Given the description of an element on the screen output the (x, y) to click on. 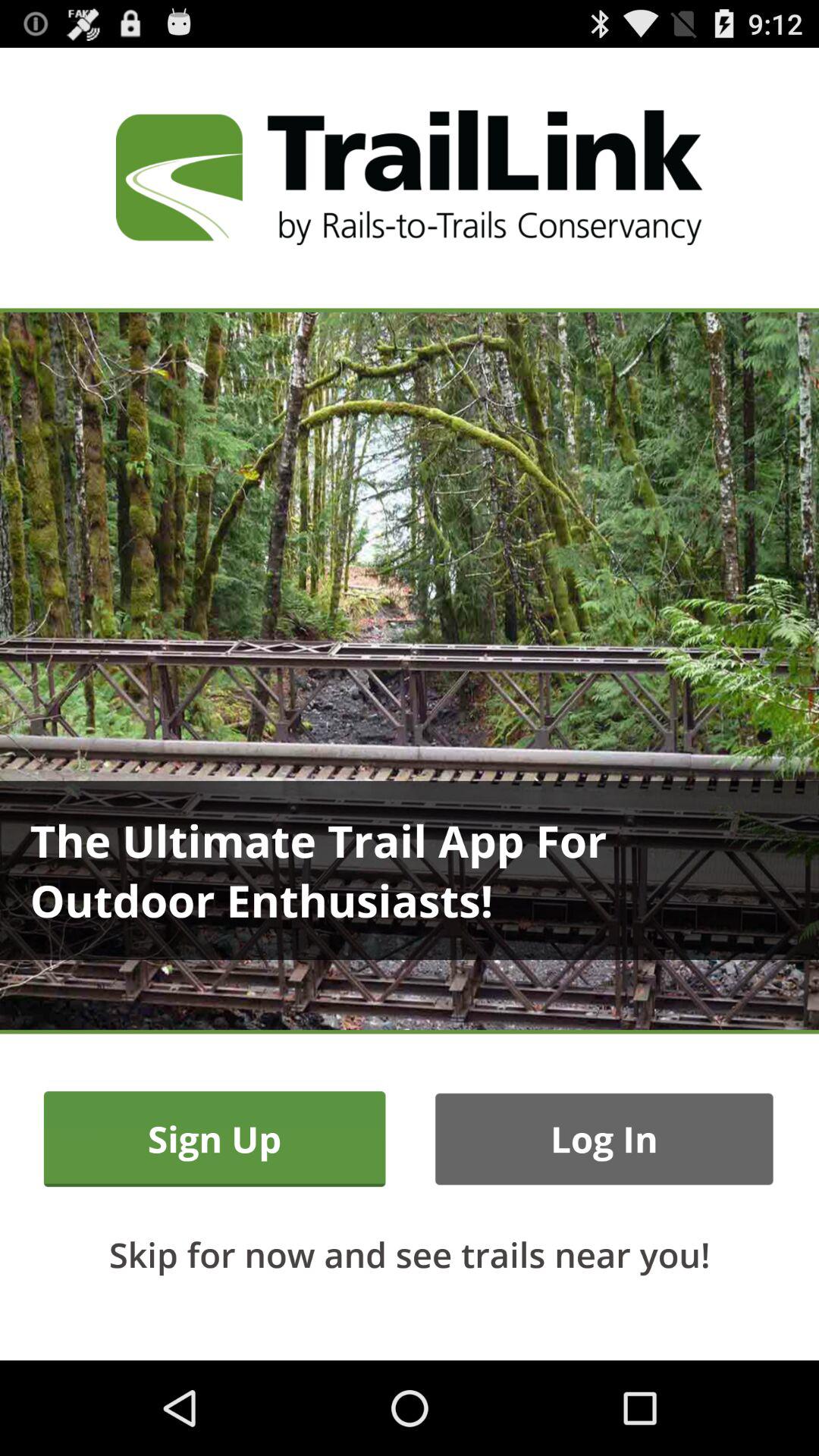
click the icon to the left of the log in icon (214, 1138)
